Given the description of an element on the screen output the (x, y) to click on. 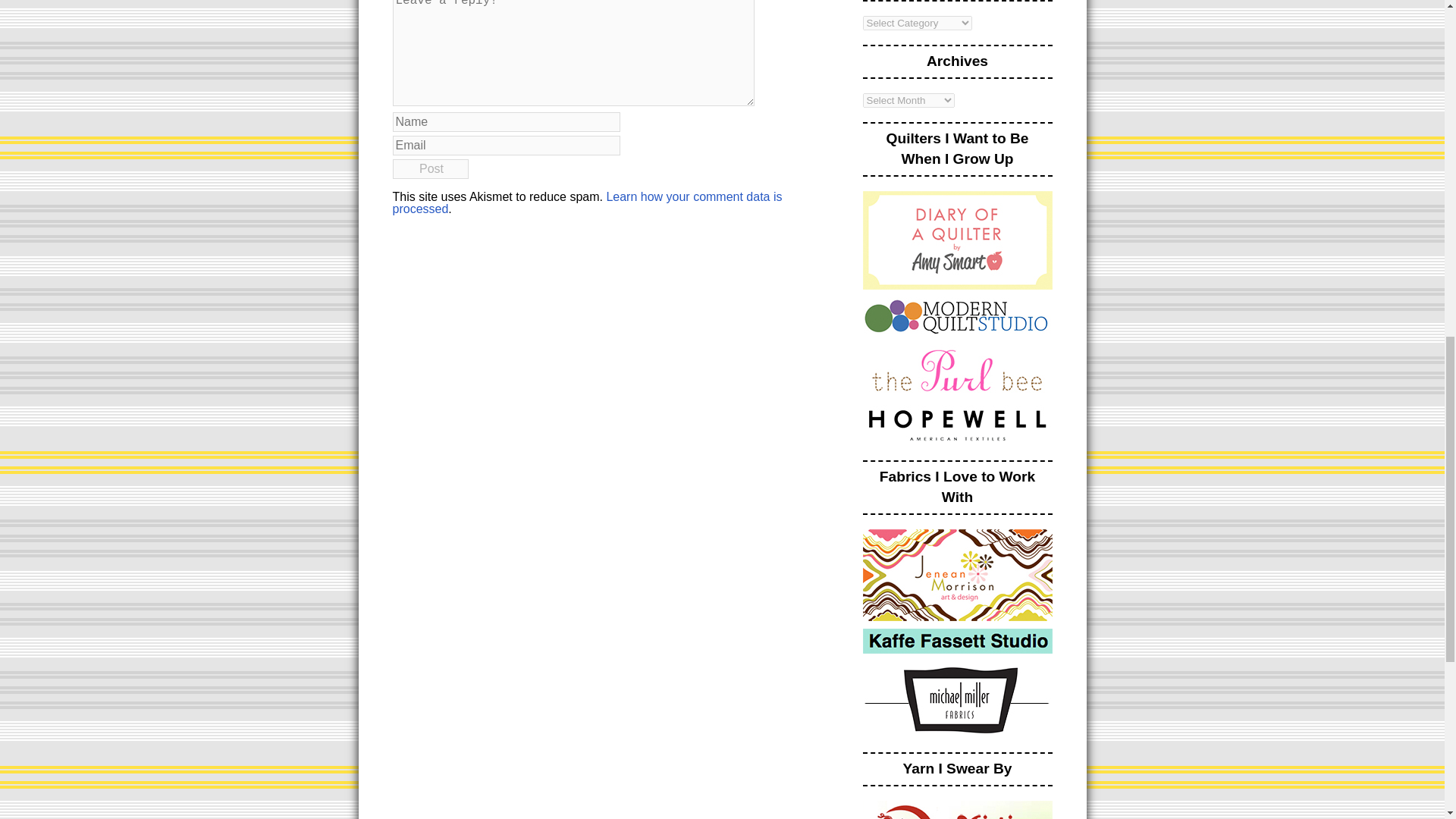
Post (430, 168)
Learn how your comment data is processed (588, 202)
Post (430, 168)
